Given the description of an element on the screen output the (x, y) to click on. 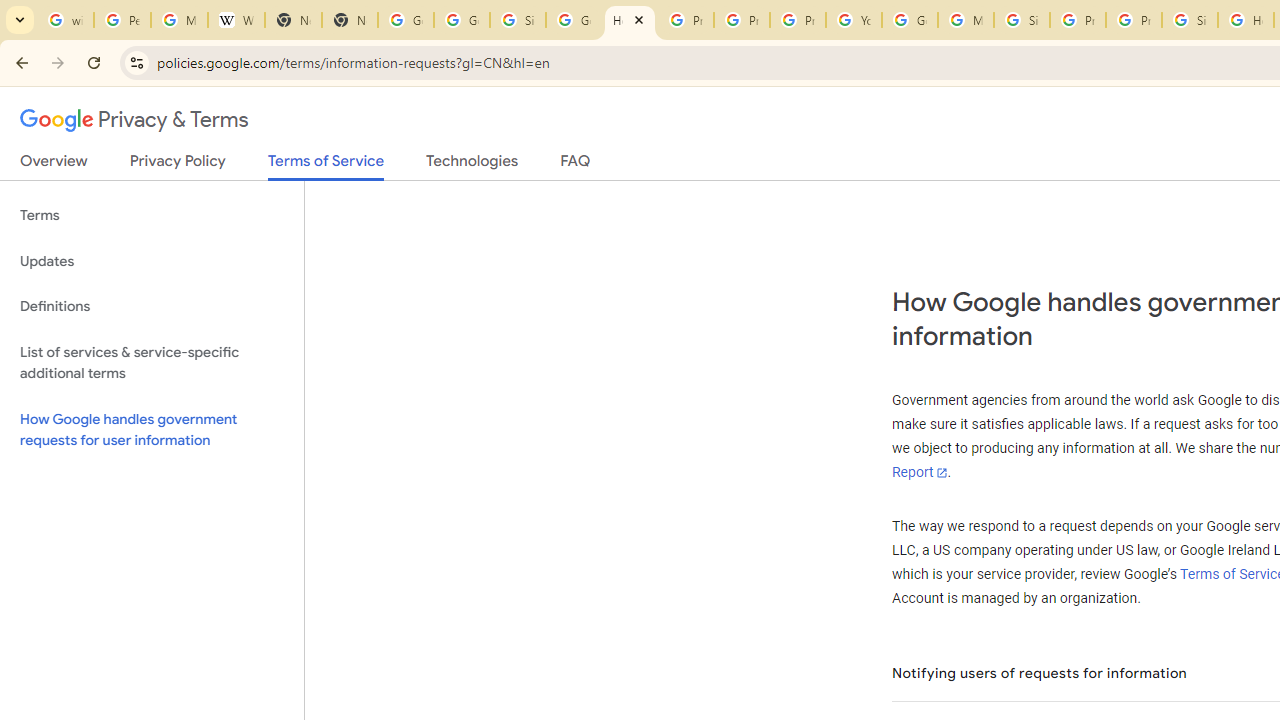
Personalization & Google Search results - Google Search Help (122, 20)
Google Account Help (909, 20)
New Tab (293, 20)
Sign in - Google Accounts (1021, 20)
